Given the description of an element on the screen output the (x, y) to click on. 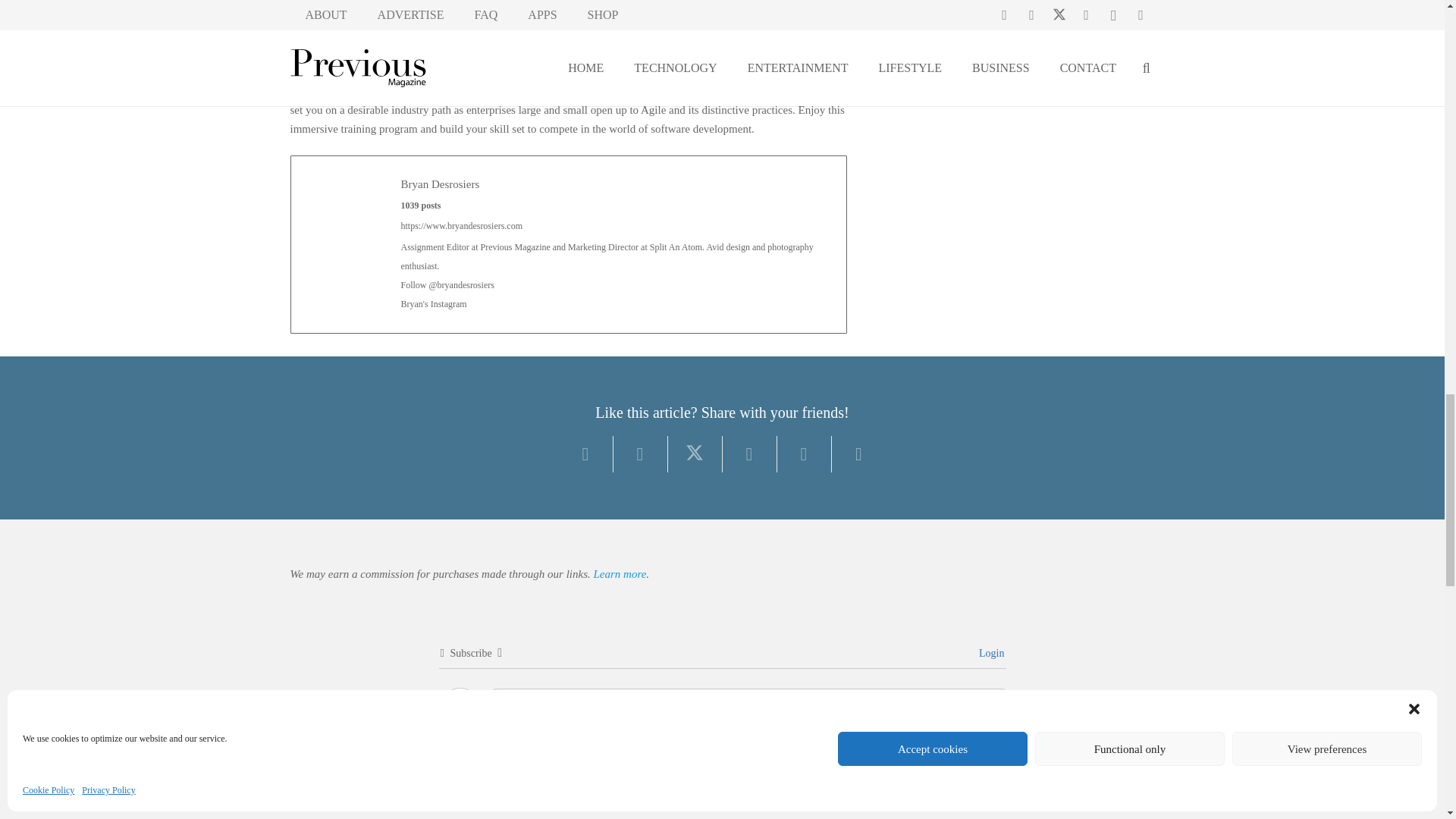
Tweet this (694, 453)
Share this (749, 453)
Pin this (803, 453)
Share this (639, 453)
Email this (584, 453)
